Given the description of an element on the screen output the (x, y) to click on. 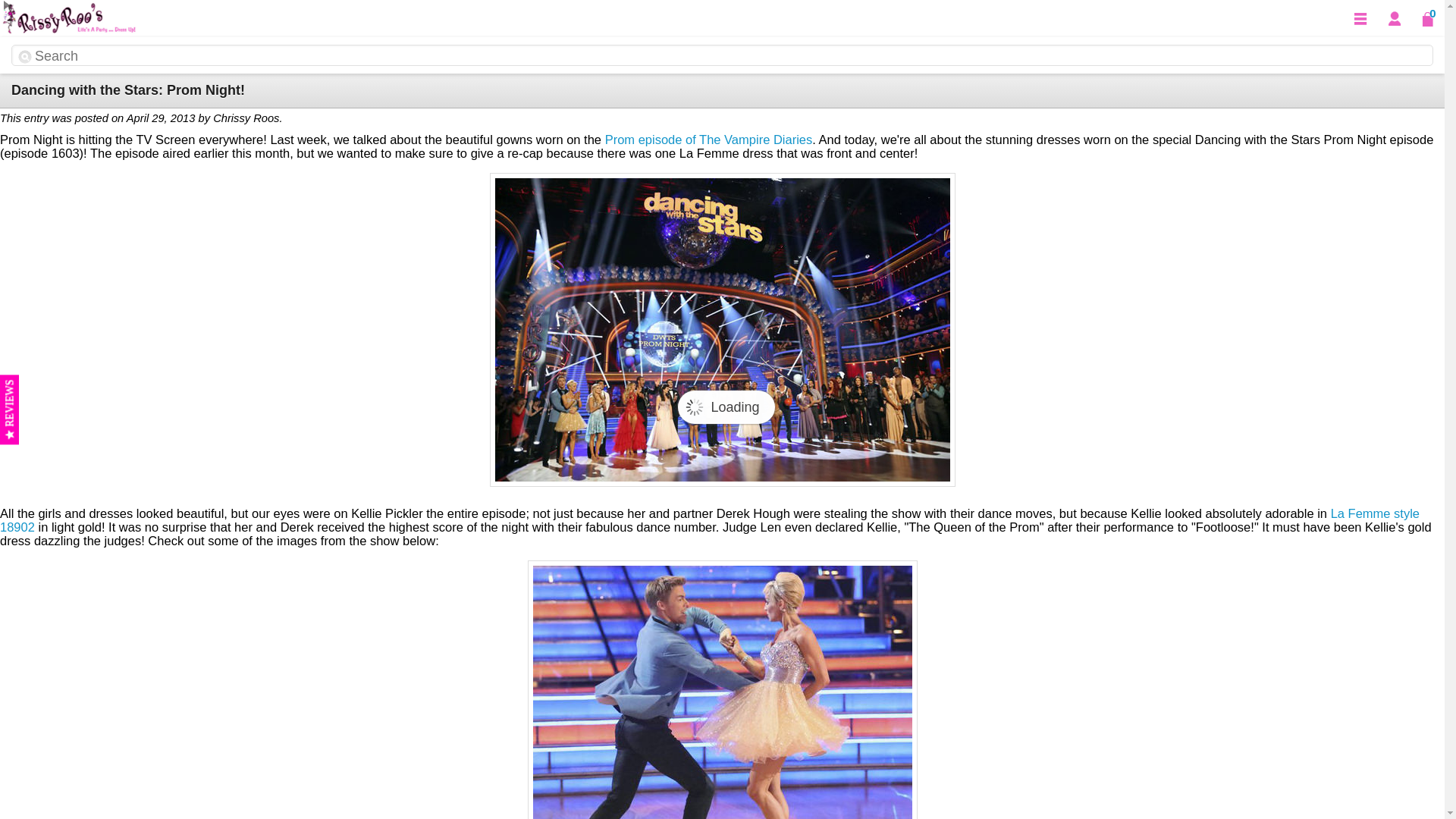
Kellie Pickler in La Femme 18902 on Dancing with the Stars (722, 689)
